Given the description of an element on the screen output the (x, y) to click on. 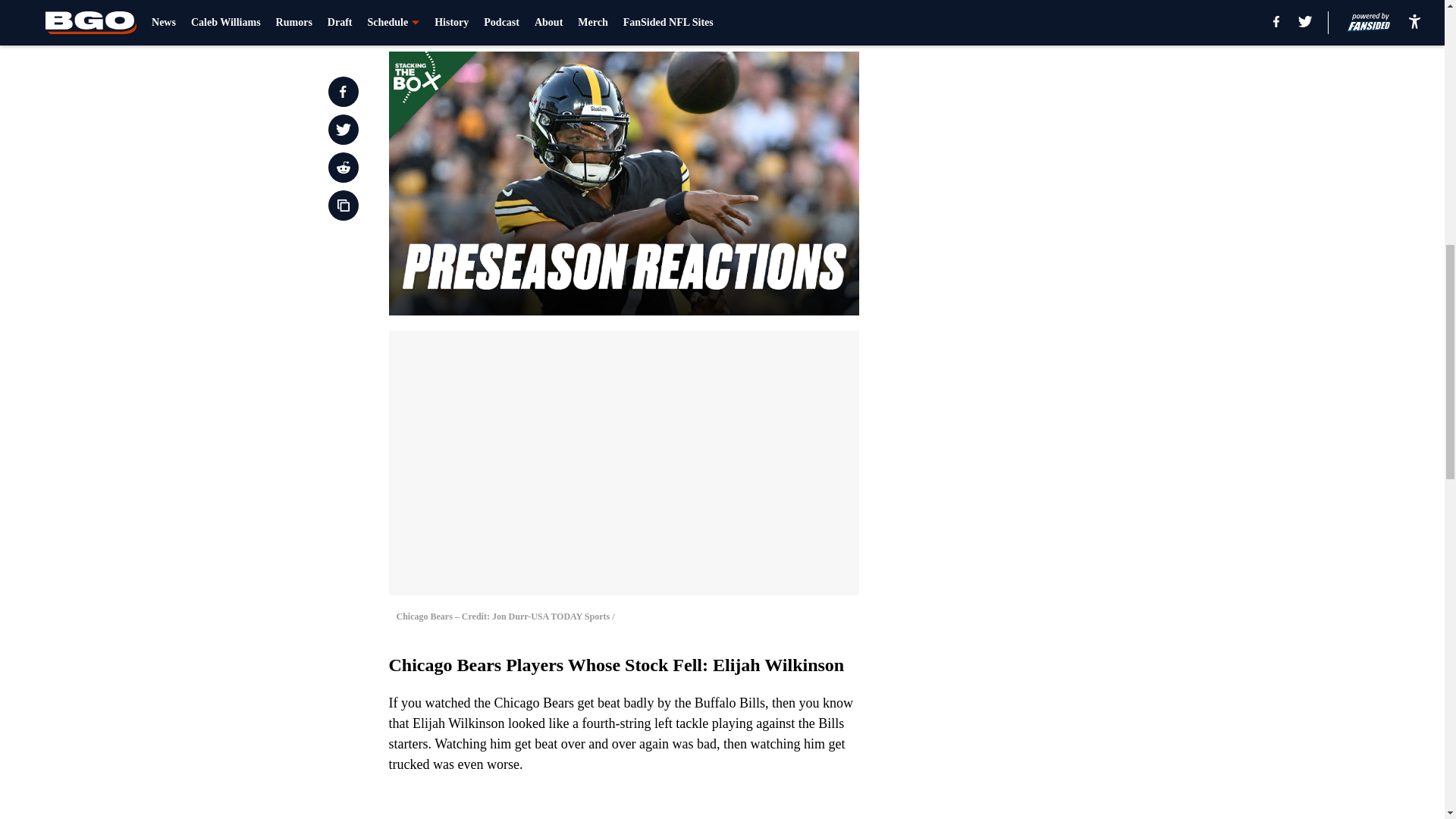
Next (813, 20)
3rd party ad content (1047, 100)
Prev (433, 20)
3rd party ad content (1047, 320)
